Given the description of an element on the screen output the (x, y) to click on. 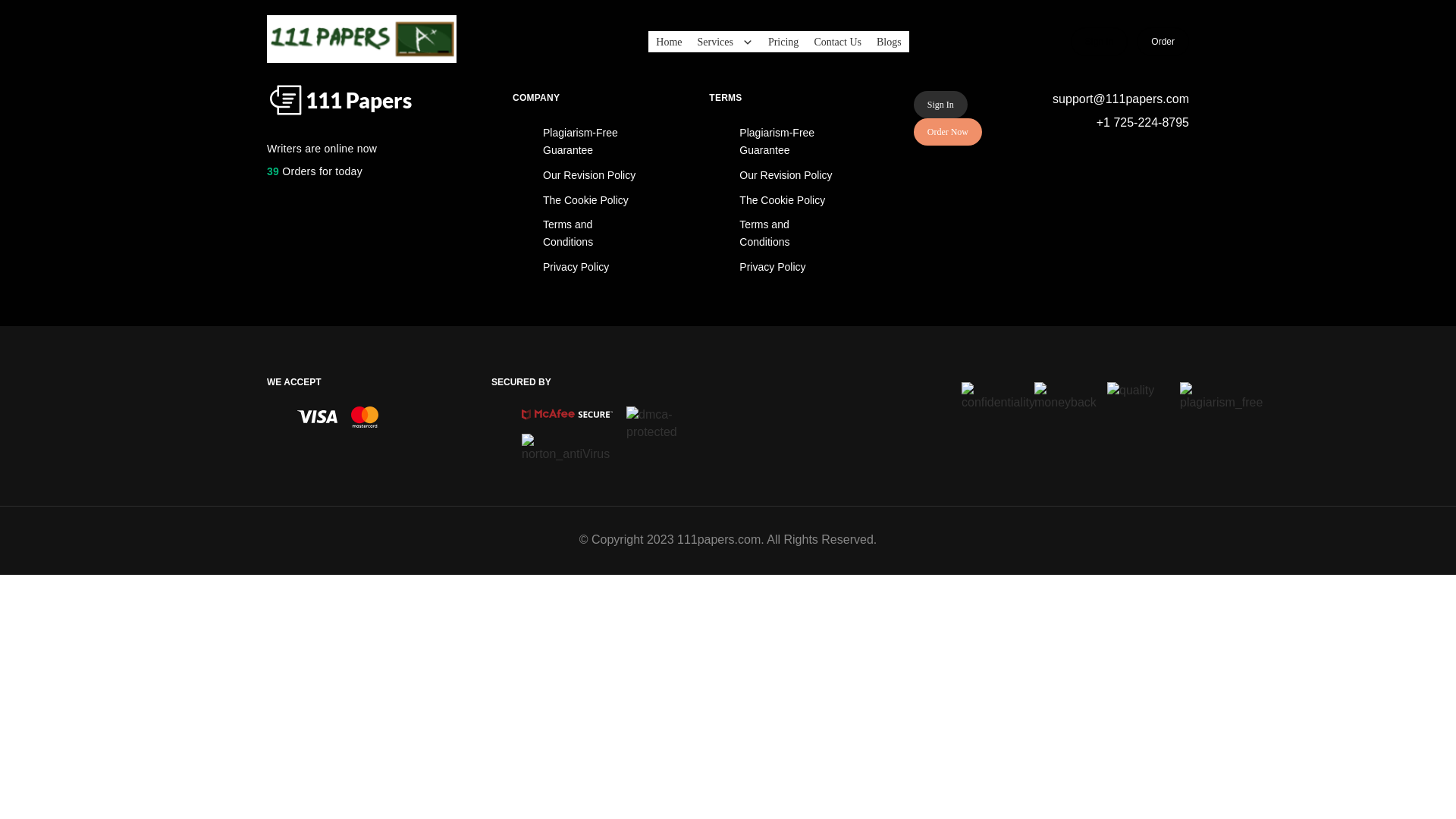
The Cookie Policy Element type: text (585, 200)
+1 725-224-8795 Element type: text (1120, 122)
Plagiarism-Free Guarantee Element type: text (580, 141)
Pricing Element type: text (783, 42)
Our Revision Policy Element type: text (785, 175)
Services Element type: text (724, 42)
Privacy Policy Element type: text (575, 266)
Order Now Element type: text (947, 131)
Contact Us Element type: text (837, 42)
The Cookie Policy Element type: text (782, 200)
Sign In Element type: text (940, 104)
Privacy Policy Element type: text (772, 266)
Sign In Element type: text (1098, 41)
support@111papers.com Element type: text (1120, 99)
Order Element type: text (1162, 41)
Terms and Conditions Element type: text (764, 232)
Terms and Conditions Element type: text (567, 232)
Home Element type: text (668, 42)
Our Revision Policy Element type: text (588, 175)
Plagiarism-Free Guarantee Element type: text (776, 141)
Blogs Element type: text (889, 42)
